Given the description of an element on the screen output the (x, y) to click on. 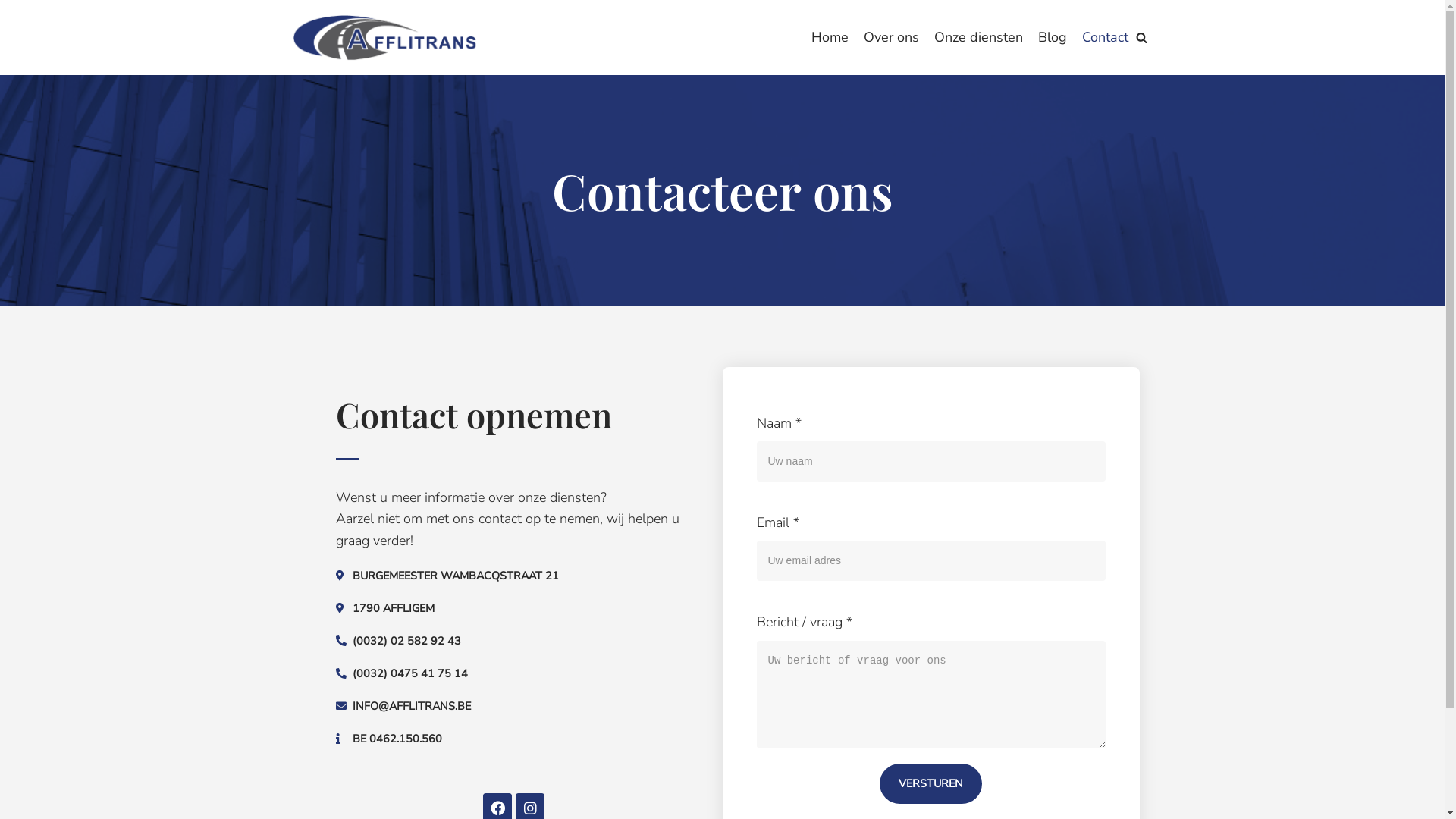
Blog Element type: text (1051, 37)
Over ons Element type: text (890, 37)
Afflitrans Element type: hover (384, 37)
Onze diensten Element type: text (978, 37)
Search Element type: text (1137, 409)
Contact Element type: text (1104, 37)
Home Element type: text (829, 37)
VERSTUREN Element type: text (930, 783)
Meteen naar de inhoud Element type: text (15, 31)
